Given the description of an element on the screen output the (x, y) to click on. 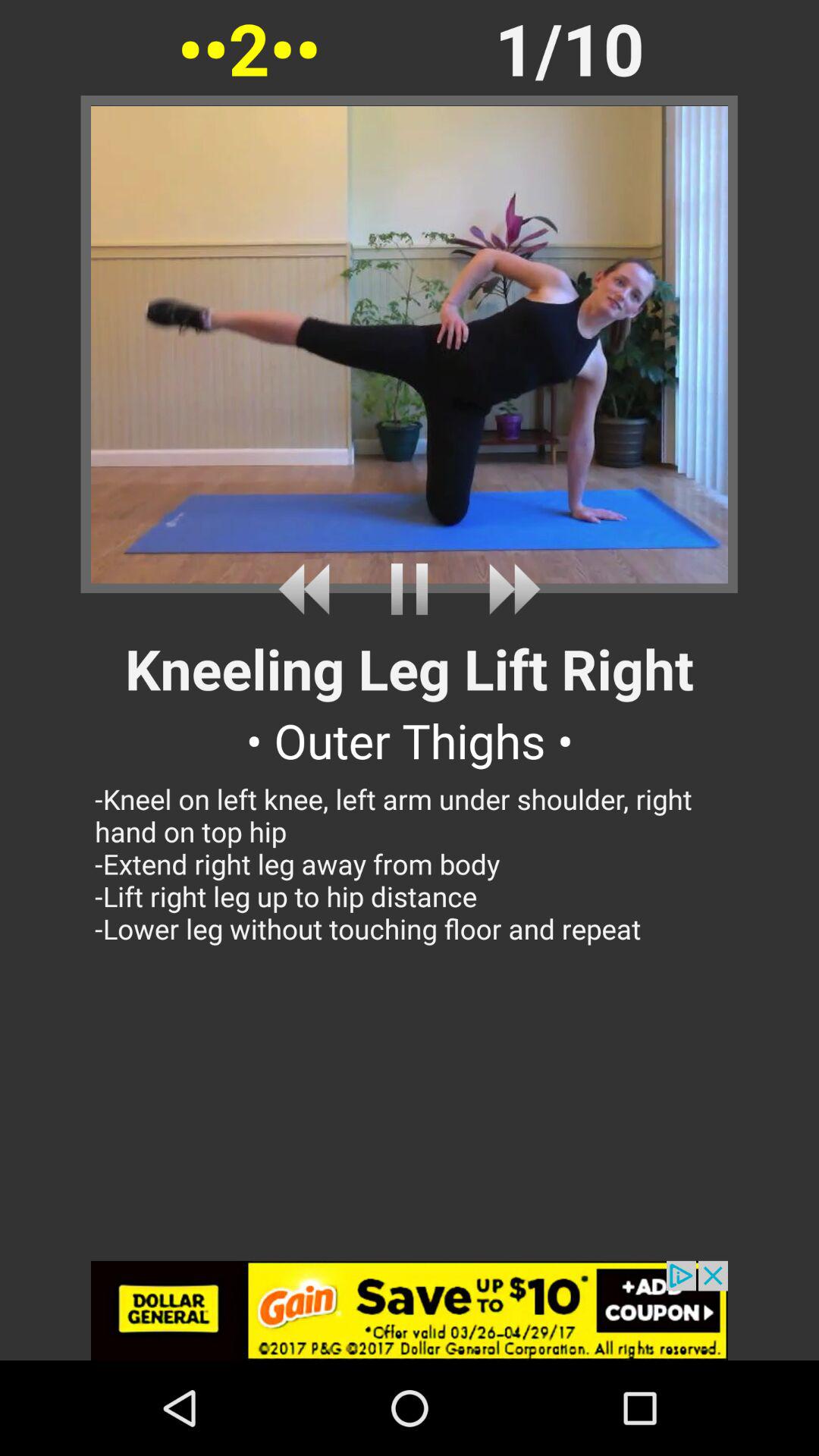
pause playback (409, 589)
